Given the description of an element on the screen output the (x, y) to click on. 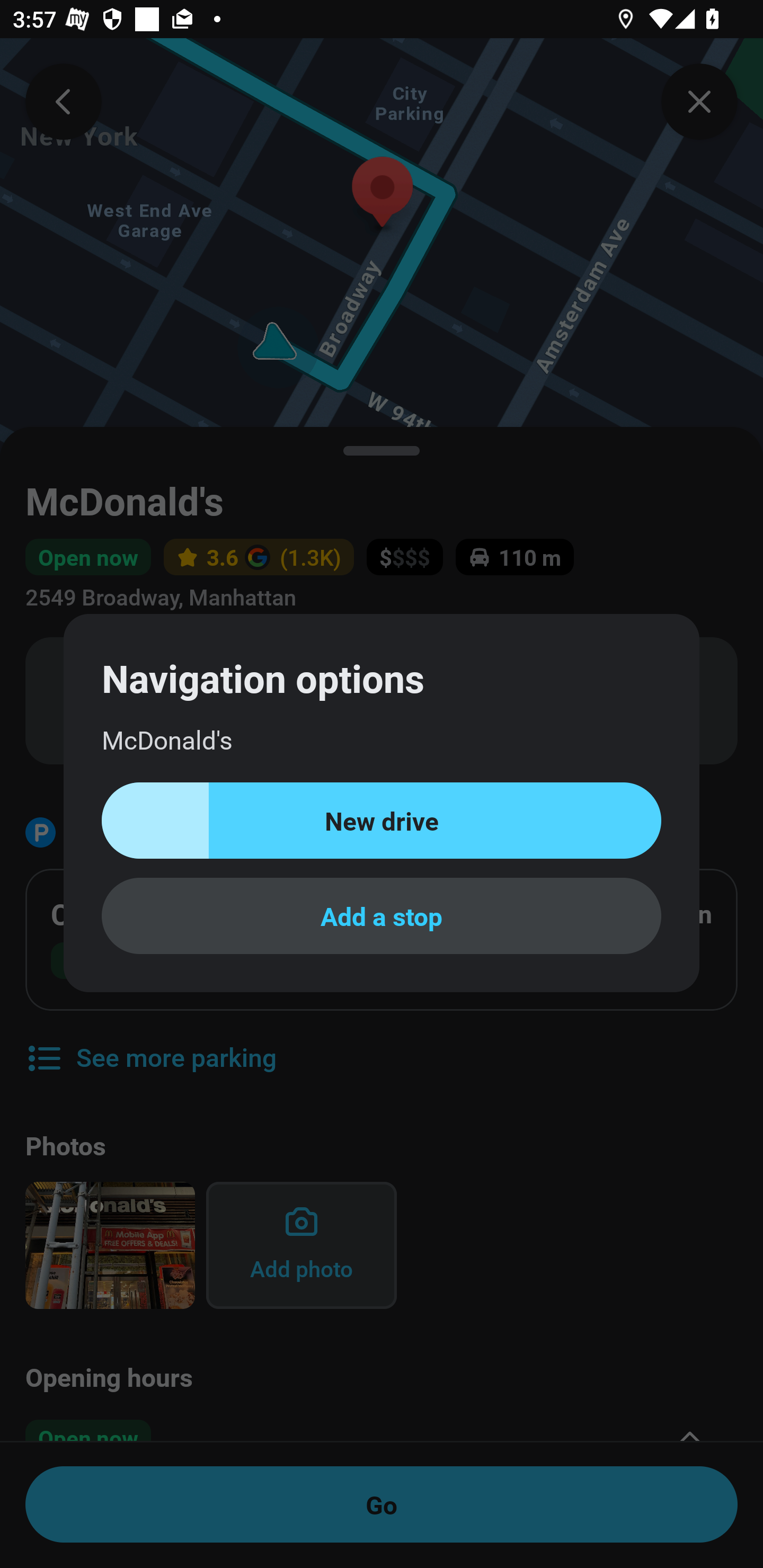
0.1861 New drive (381, 820)
Add a stop (381, 915)
